Given the description of an element on the screen output the (x, y) to click on. 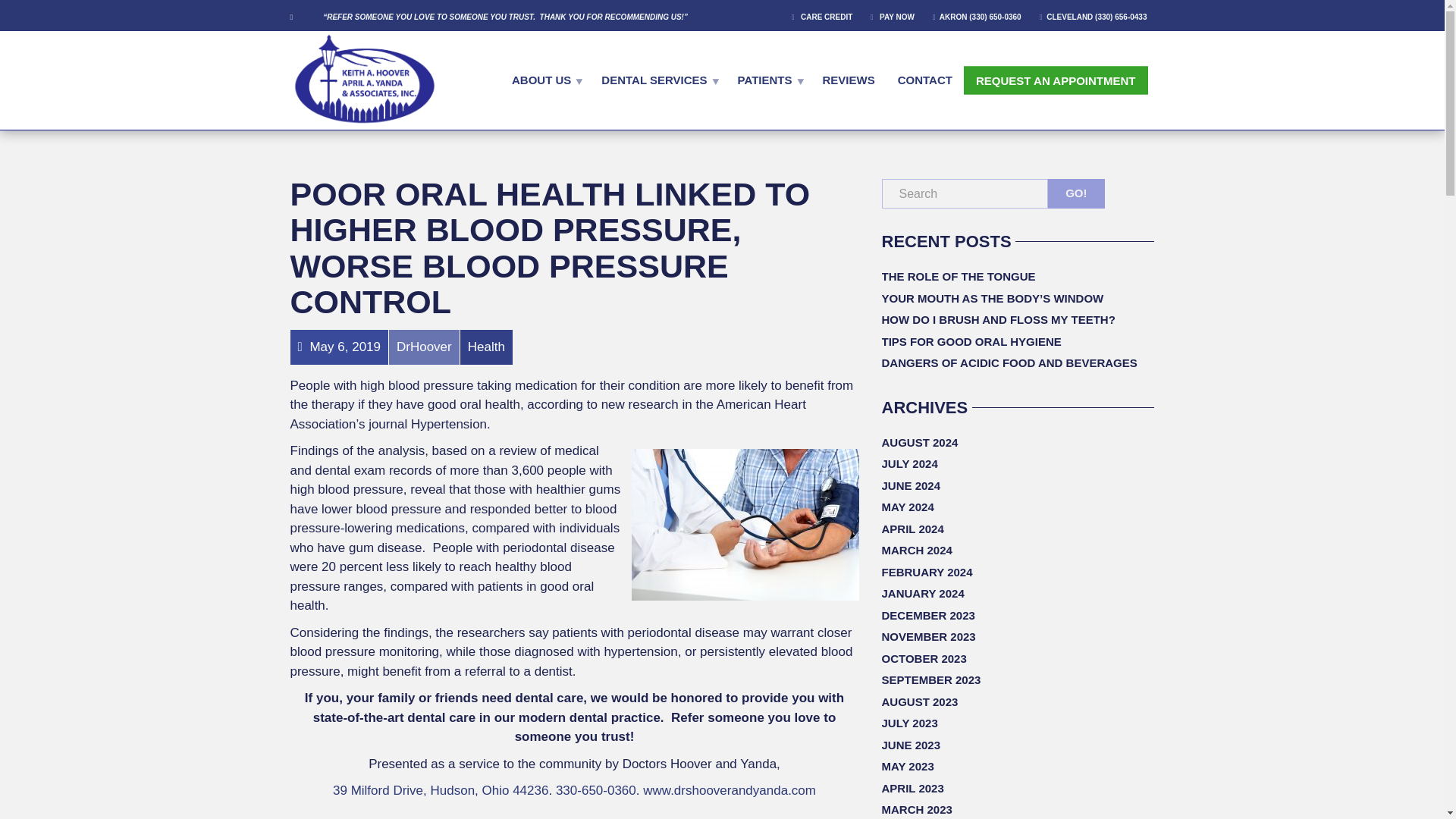
ABOUT US (544, 79)
DENTAL SERVICES (657, 79)
REVIEWS (848, 79)
   PAY NOW (894, 16)
PATIENTS (768, 79)
Dental Services (657, 79)
   CARE CREDIT (826, 16)
REQUEST AN APPOINTMENT (1055, 79)
About Us (544, 79)
CONTACT (924, 79)
